Given the description of an element on the screen output the (x, y) to click on. 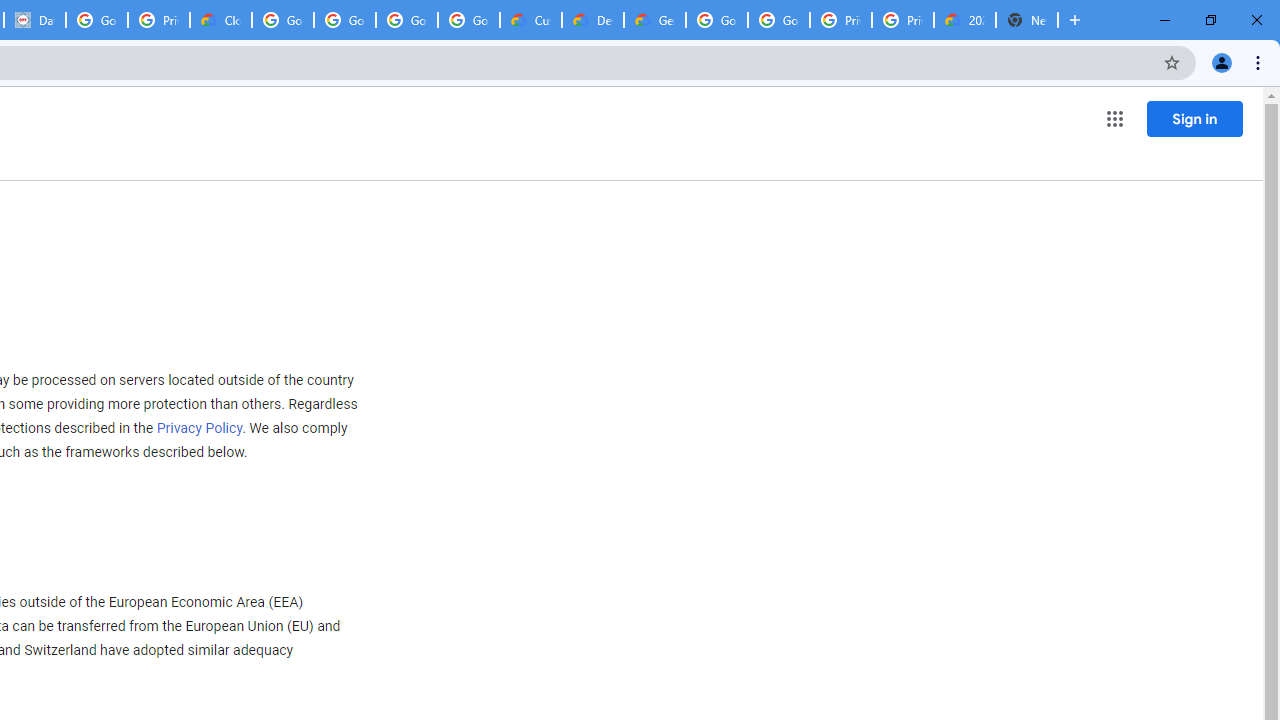
Cloud Data Processing Addendum | Google Cloud (220, 20)
New Tab (1026, 20)
Google Cloud Platform (716, 20)
Google Cloud Platform (778, 20)
Gemini for Business and Developers | Google Cloud (654, 20)
